Given the description of an element on the screen output the (x, y) to click on. 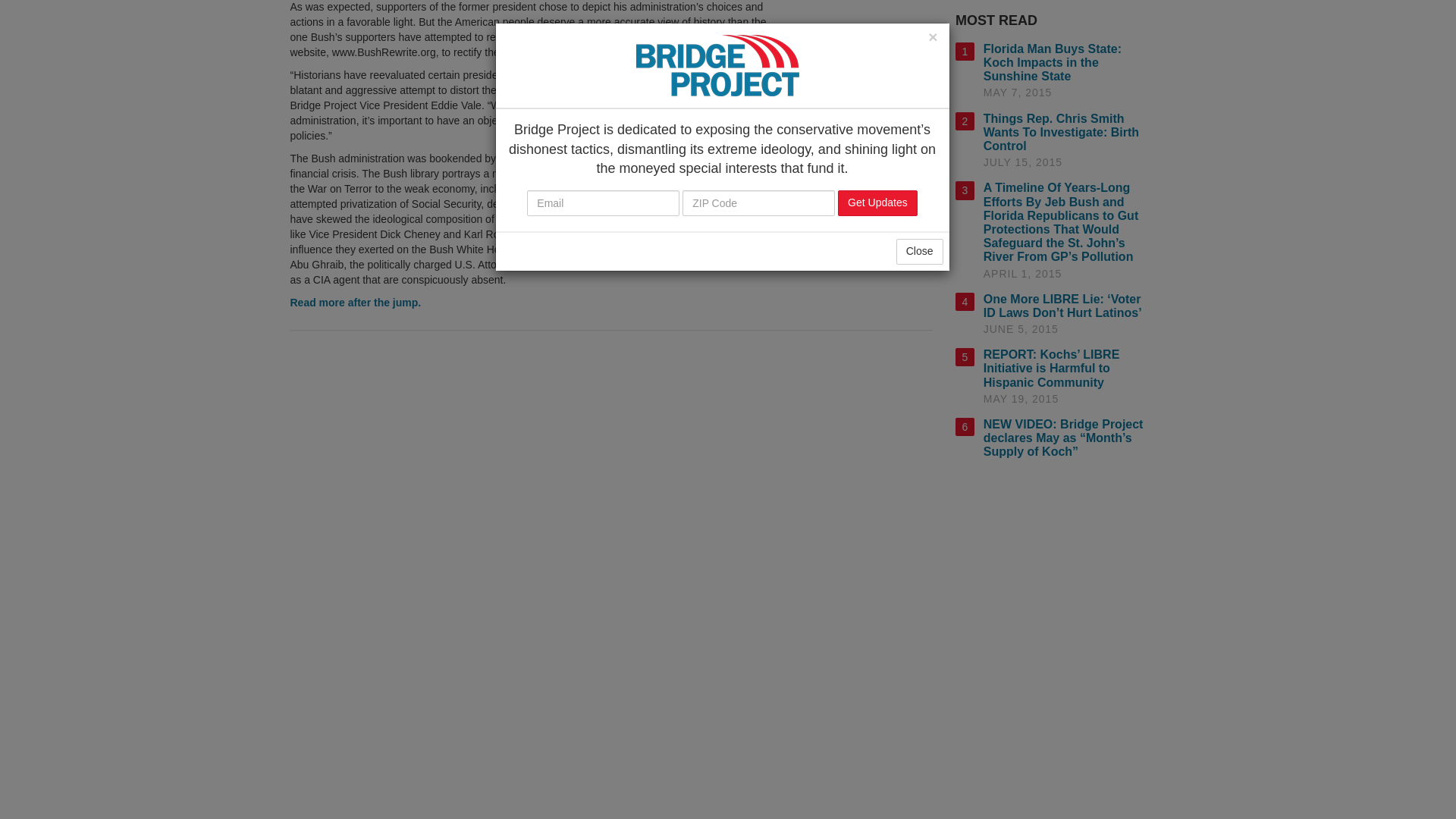
Florida Man Buys State: Koch Impacts in the Sunshine State (1052, 62)
Things Rep. Chris Smith Wants To Investigate: Birth Control (1061, 132)
Read more after the jump. (354, 302)
